Given the description of an element on the screen output the (x, y) to click on. 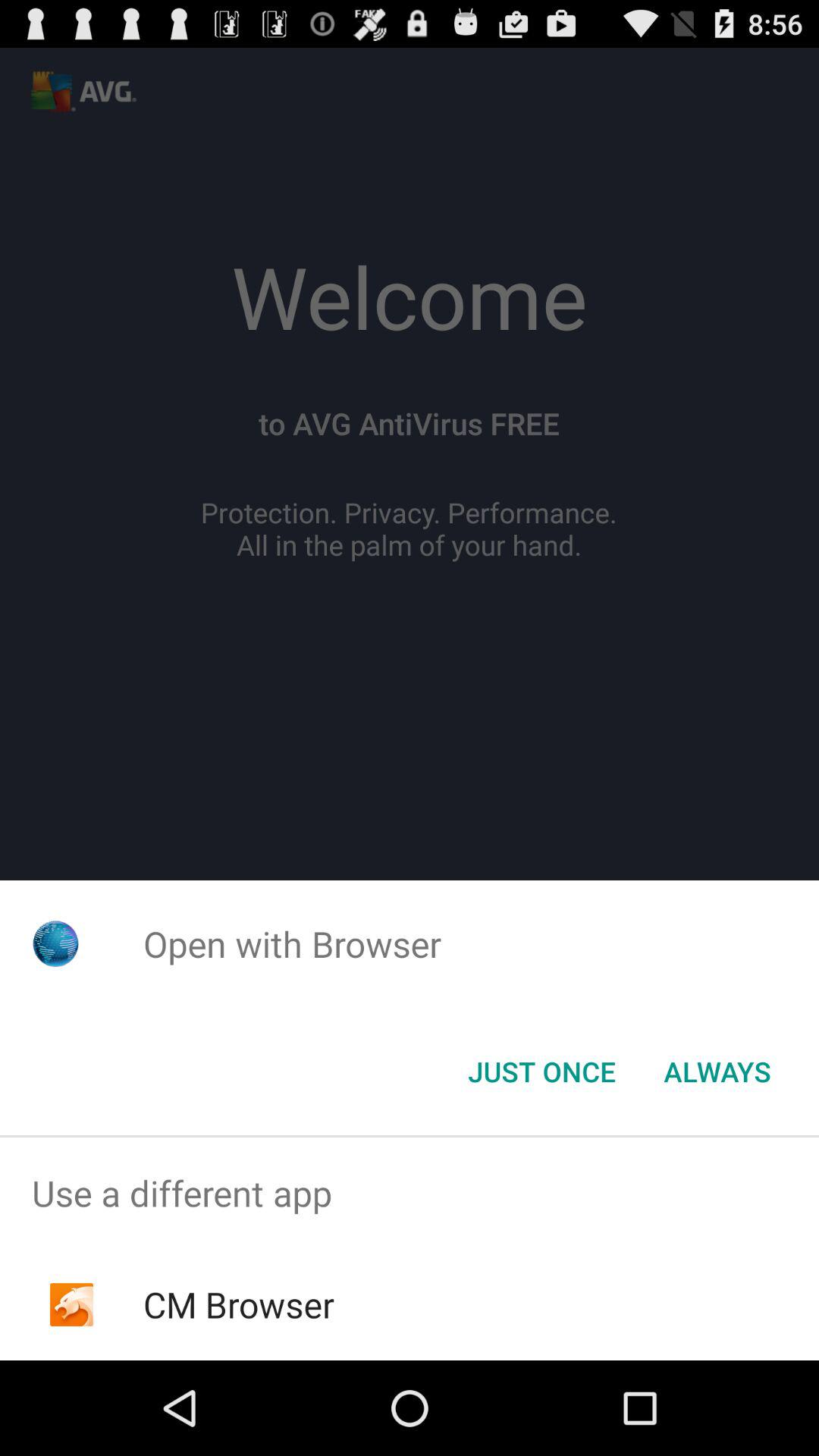
press the always (717, 1071)
